Given the description of an element on the screen output the (x, y) to click on. 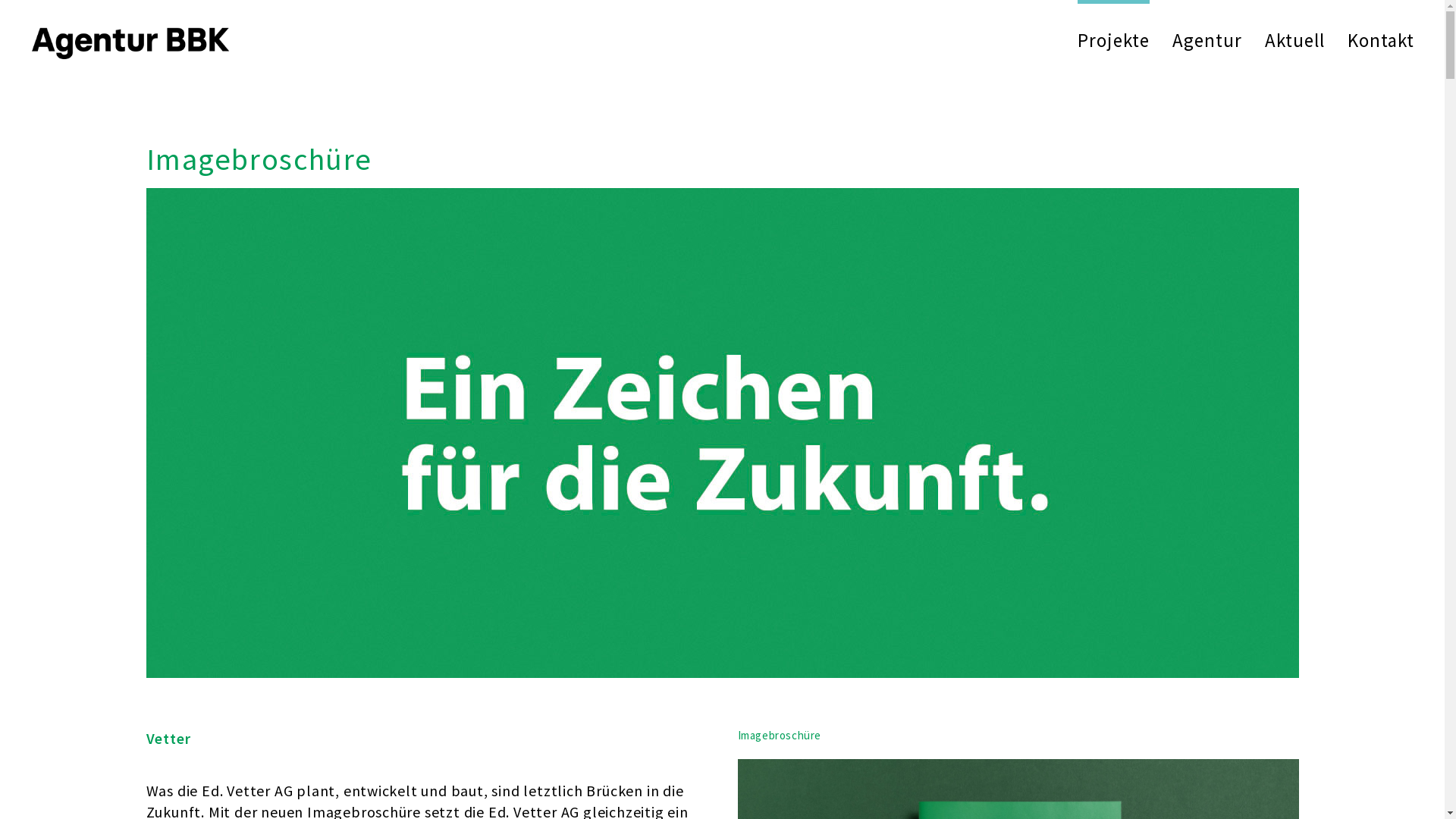
Aktuell Element type: text (1294, 40)
Projekte Element type: text (1113, 40)
Kontakt Element type: text (1380, 40)
Agentur Element type: text (1207, 40)
